Given the description of an element on the screen output the (x, y) to click on. 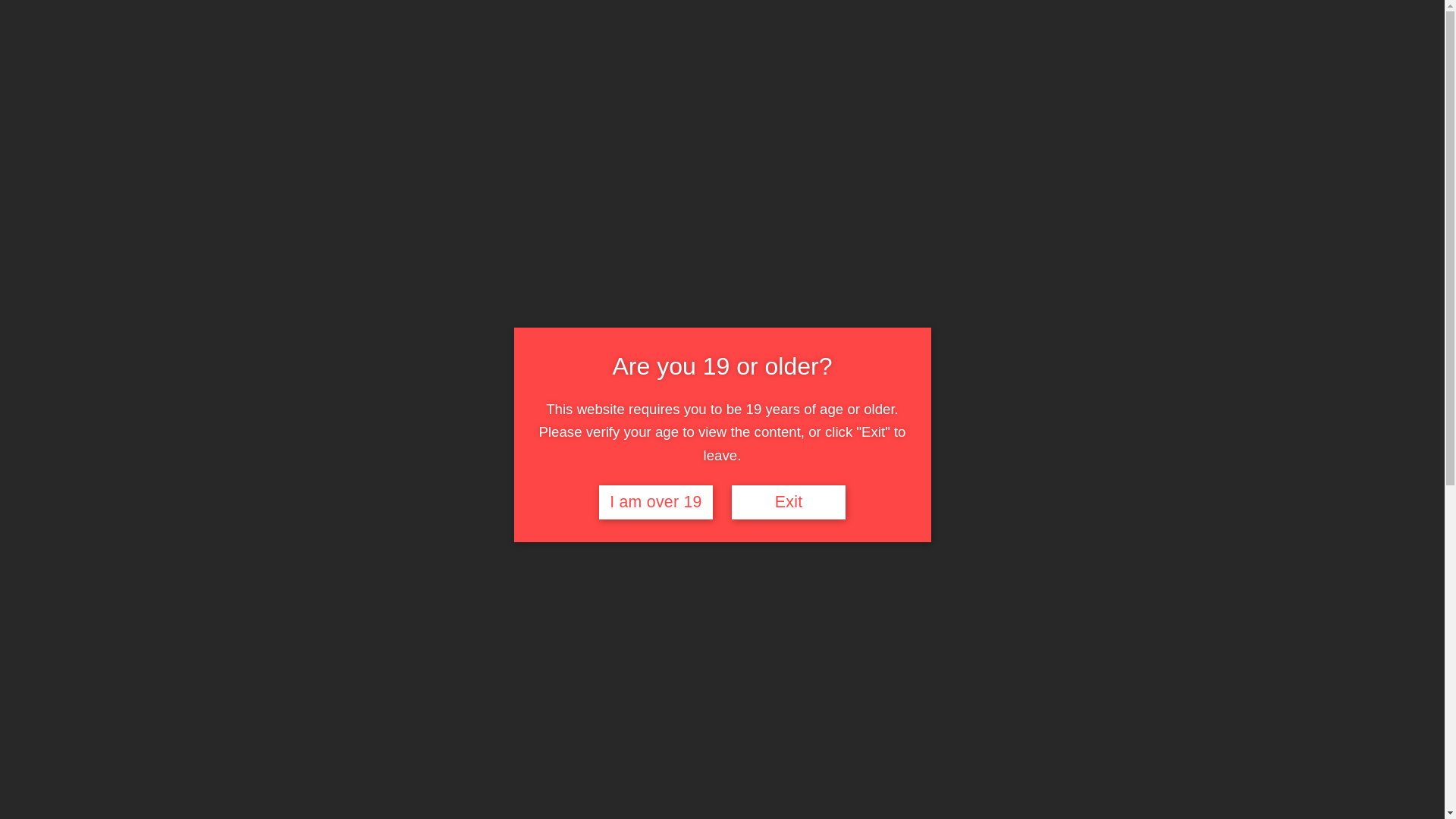
AUGUST 1, 2022 (384, 501)
Permalink to Latest shipment of wines and rakija (384, 501)
CONTACT US (852, 73)
July 2024 (1024, 642)
UNCATEGORIZED (286, 501)
New Container arriving May 2023 (1073, 443)
New Container of Macedonian Wines and Rakii- November 2023 (1089, 416)
NEW SHIPMENT OF WONDERFUL MACEDONIAN WINES AND RAKIJA (1080, 379)
Place your order for the next container. (1083, 485)
